Given the description of an element on the screen output the (x, y) to click on. 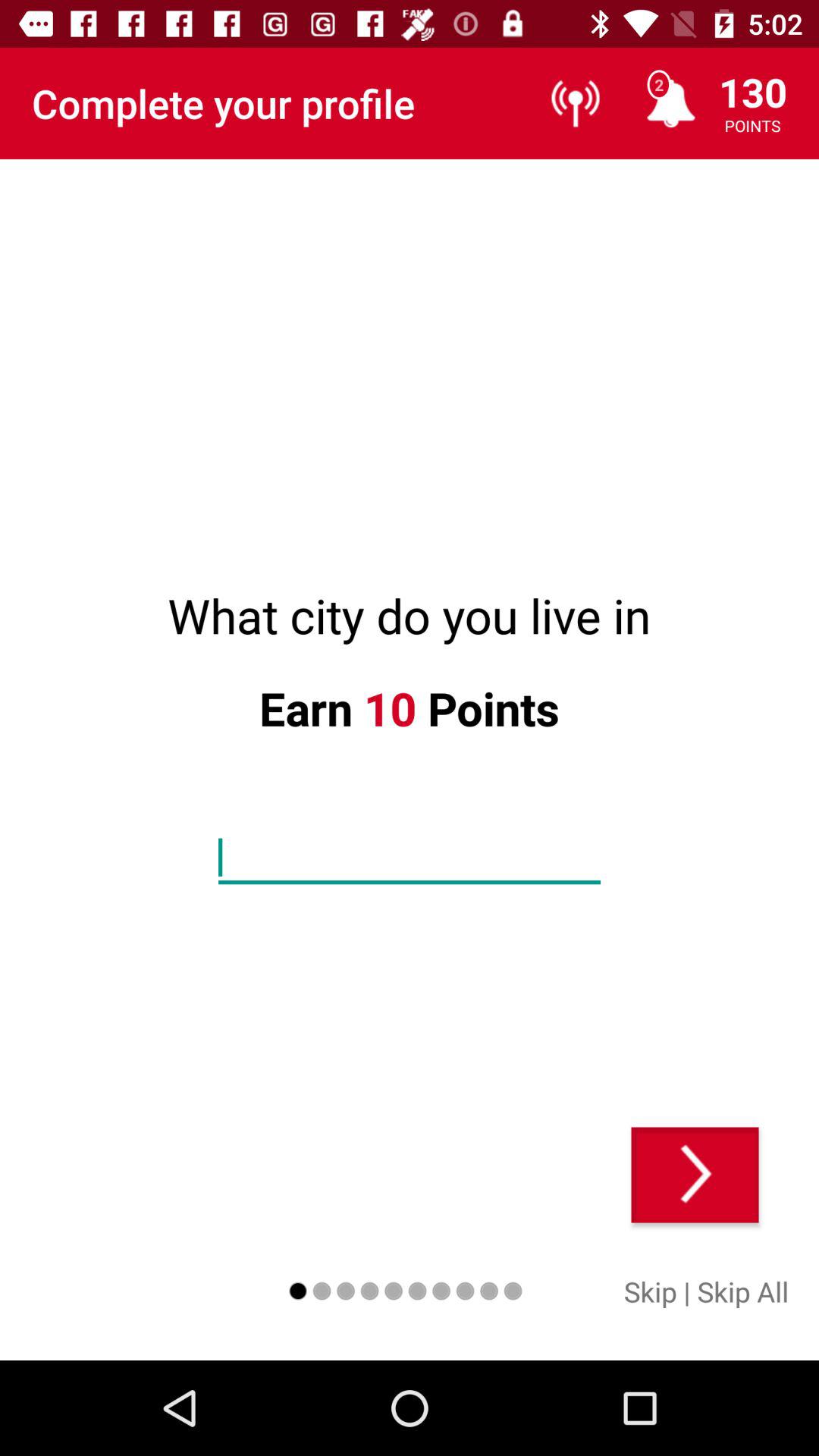
enter city information (409, 858)
